Given the description of an element on the screen output the (x, y) to click on. 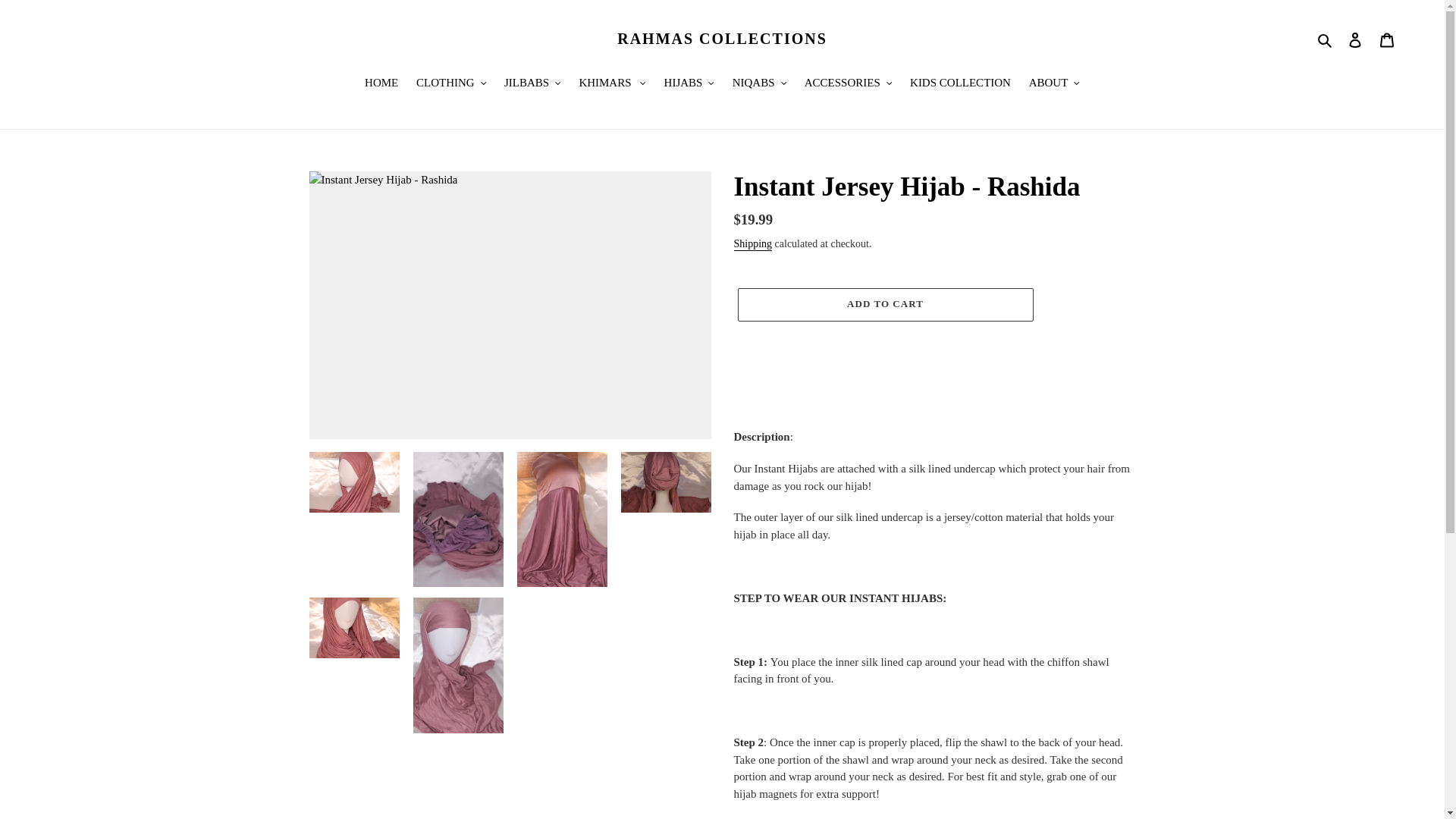
Log in (1355, 38)
RAHMAS COLLECTIONS (722, 38)
Cart (1387, 38)
Search (1326, 38)
